Given the description of an element on the screen output the (x, y) to click on. 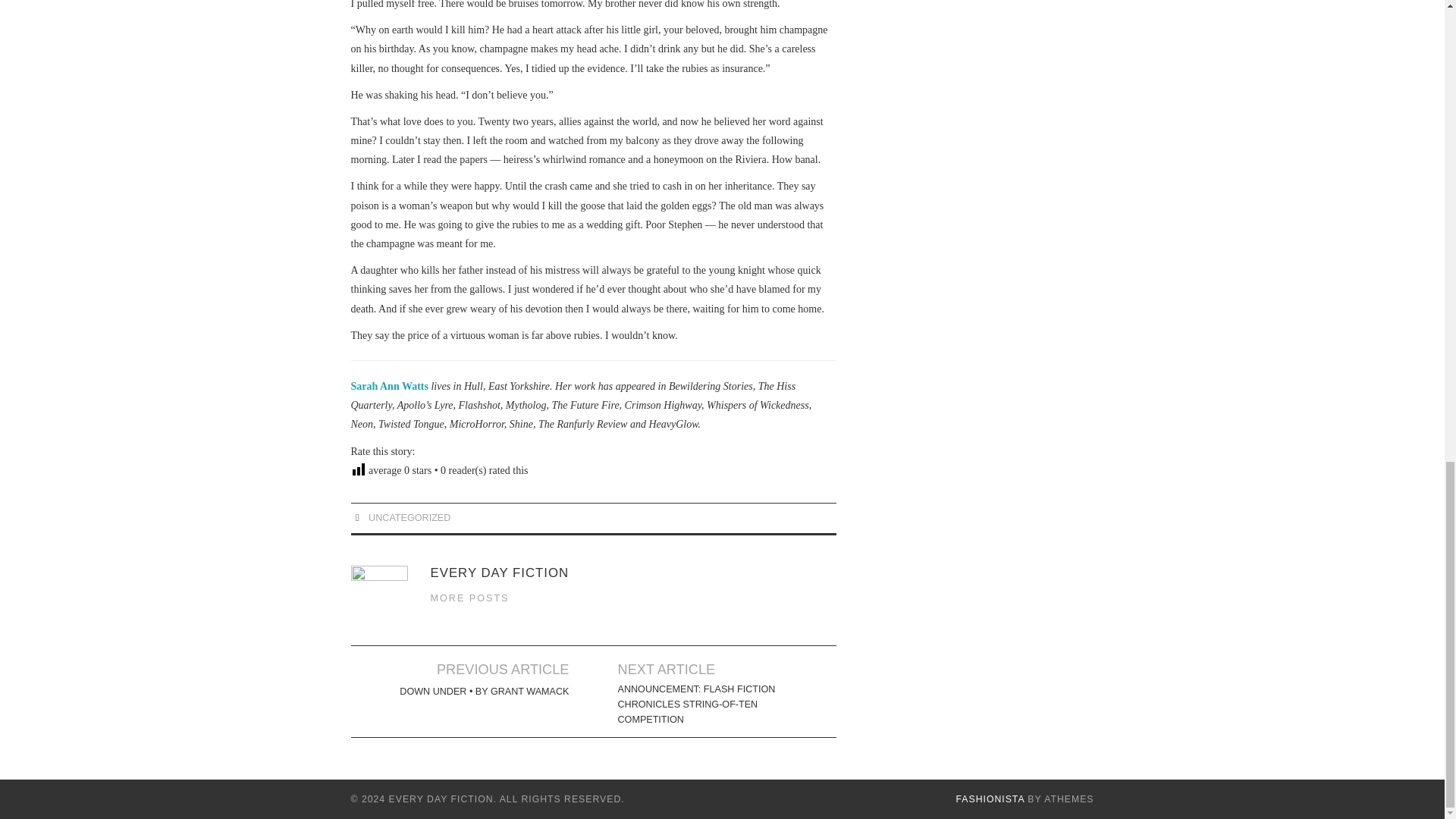
MORE POSTS (469, 597)
Sarah Ann Watts (389, 386)
